Given the description of an element on the screen output the (x, y) to click on. 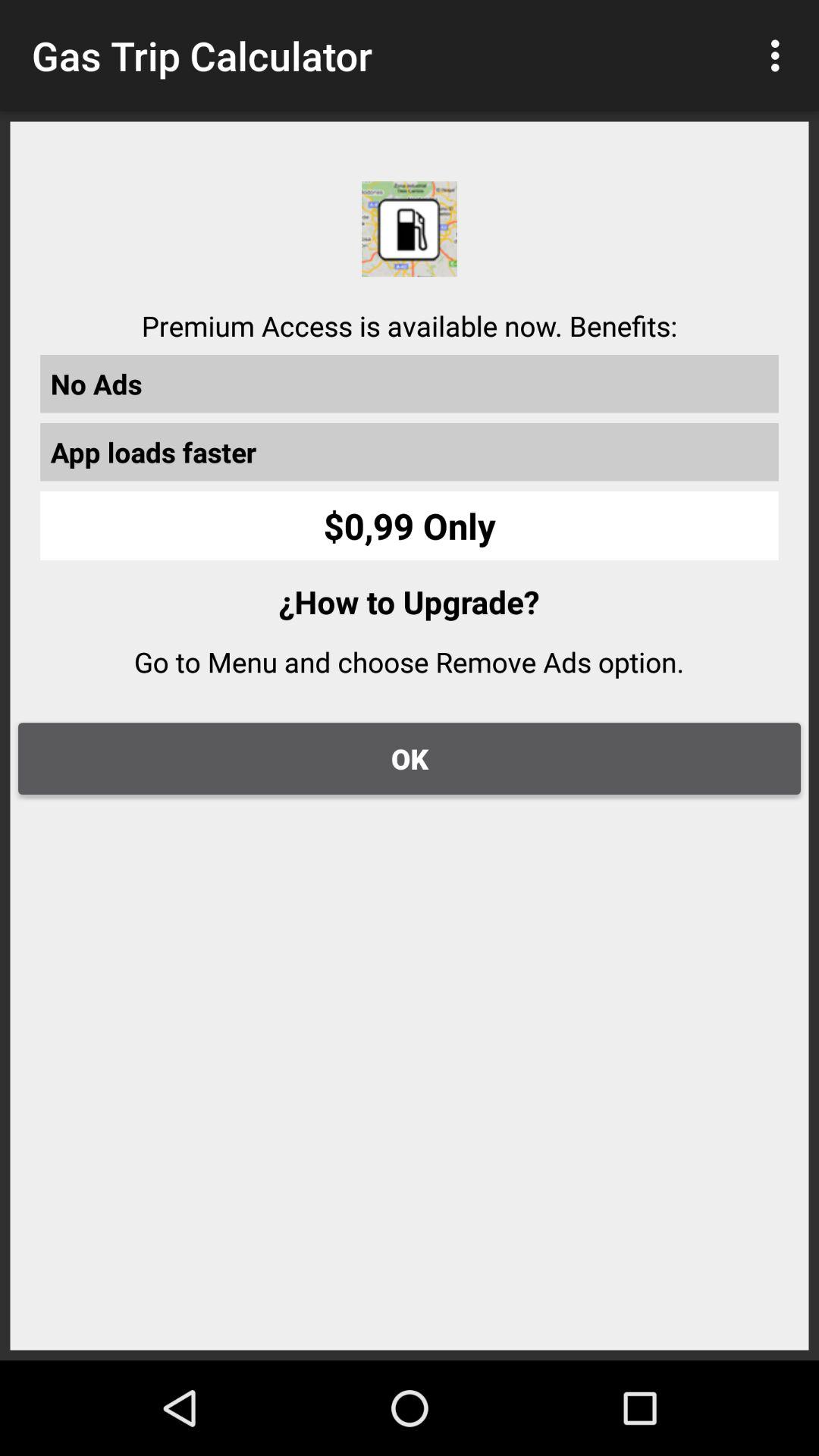
press the item at the top right corner (779, 55)
